Given the description of an element on the screen output the (x, y) to click on. 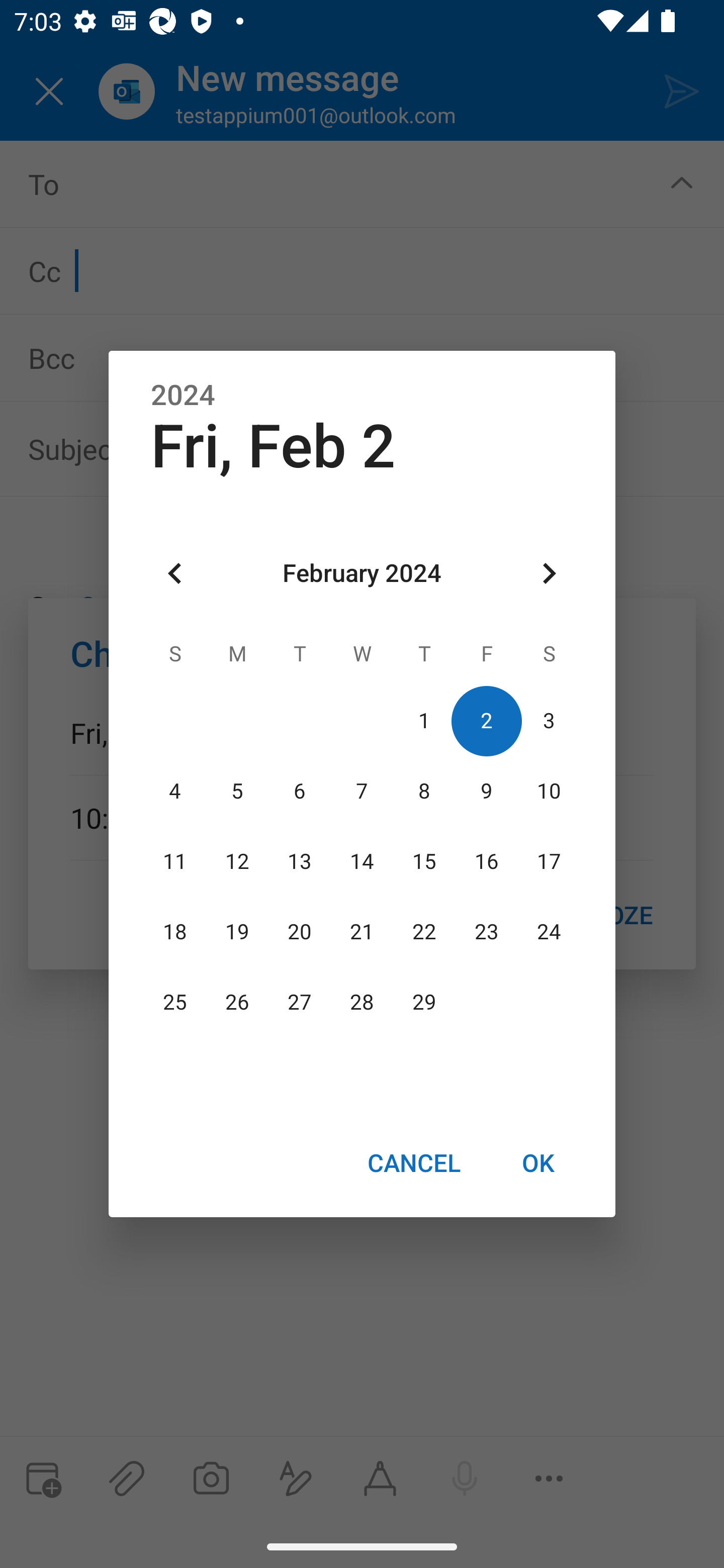
2024 (182, 395)
Fri, Feb 2 (273, 446)
Previous month (174, 573)
Next month (548, 573)
1 01 February 2024 (424, 720)
2 02 February 2024 (486, 720)
3 03 February 2024 (548, 720)
4 04 February 2024 (175, 790)
5 05 February 2024 (237, 790)
6 06 February 2024 (299, 790)
7 07 February 2024 (361, 790)
8 08 February 2024 (424, 790)
9 09 February 2024 (486, 790)
10 10 February 2024 (548, 790)
11 11 February 2024 (175, 861)
12 12 February 2024 (237, 861)
13 13 February 2024 (299, 861)
14 14 February 2024 (361, 861)
15 15 February 2024 (424, 861)
16 16 February 2024 (486, 861)
17 17 February 2024 (548, 861)
18 18 February 2024 (175, 931)
19 19 February 2024 (237, 931)
20 20 February 2024 (299, 931)
21 21 February 2024 (361, 931)
22 22 February 2024 (424, 931)
23 23 February 2024 (486, 931)
24 24 February 2024 (548, 931)
25 25 February 2024 (175, 1002)
26 26 February 2024 (237, 1002)
27 27 February 2024 (299, 1002)
28 28 February 2024 (361, 1002)
29 29 February 2024 (424, 1002)
CANCEL (413, 1162)
OK (537, 1162)
